Given the description of an element on the screen output the (x, y) to click on. 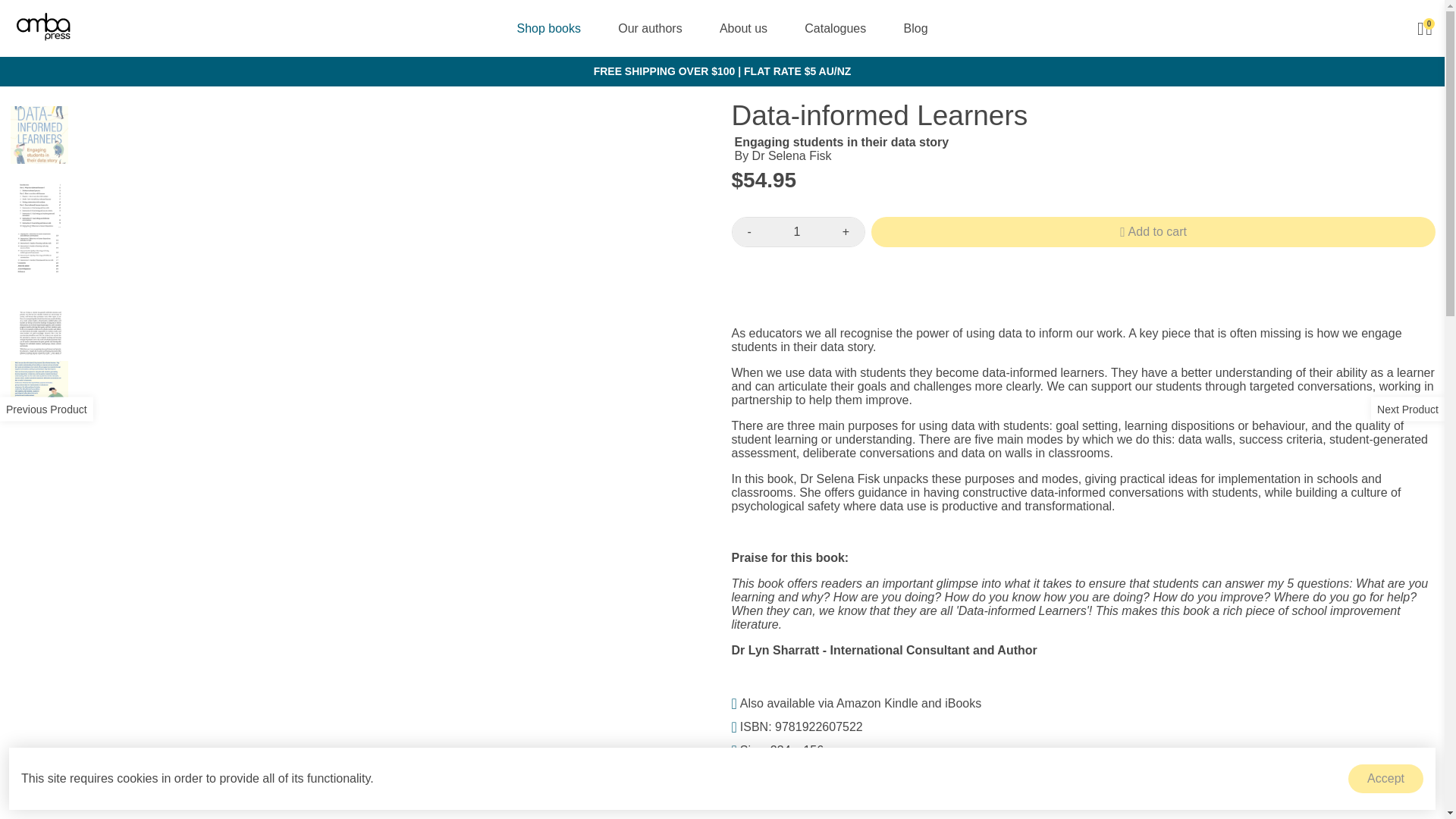
Blog (915, 28)
Catalogues (834, 28)
Our authors (649, 28)
Shop books (547, 28)
About us (743, 28)
1 (797, 231)
